Given the description of an element on the screen output the (x, y) to click on. 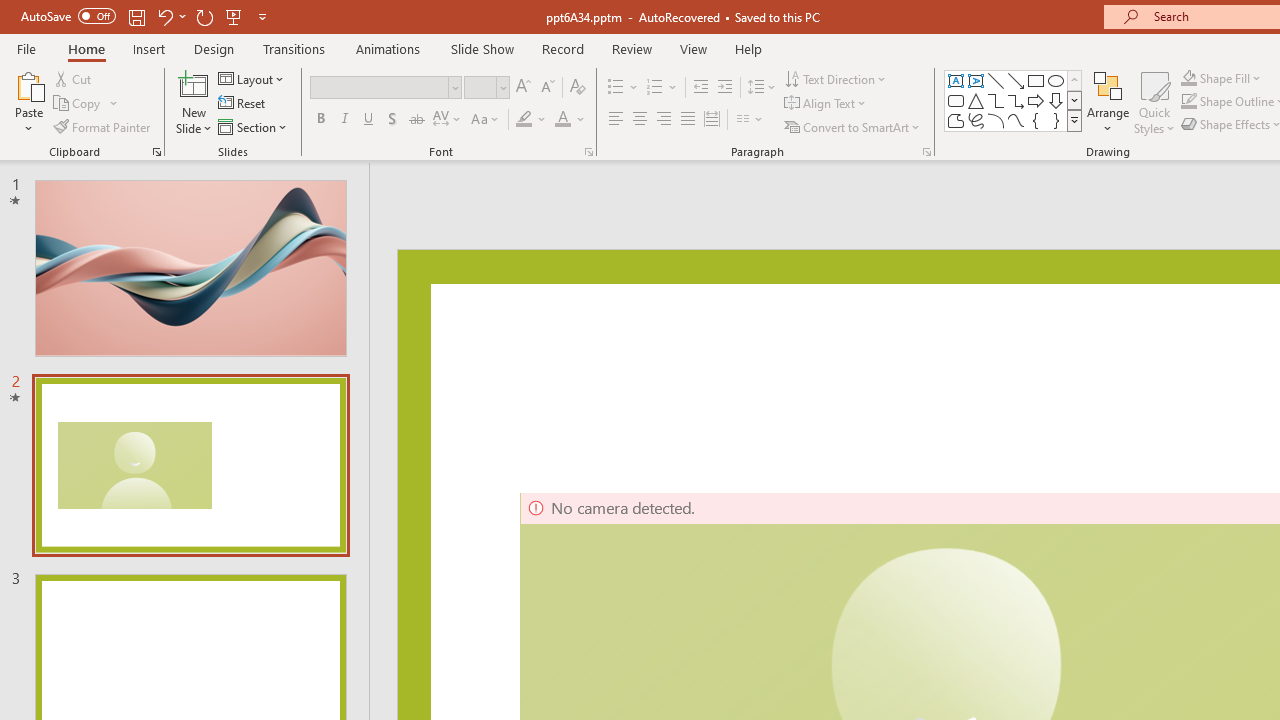
Row up (1074, 79)
Reset (243, 103)
Font Size (480, 87)
Increase Indent (725, 87)
From Beginning (234, 15)
Bullets (616, 87)
Font (385, 87)
Align Right (663, 119)
Columns (750, 119)
Character Spacing (447, 119)
Bullets (623, 87)
Curve (1016, 120)
Font... (588, 151)
Justify (687, 119)
